Given the description of an element on the screen output the (x, y) to click on. 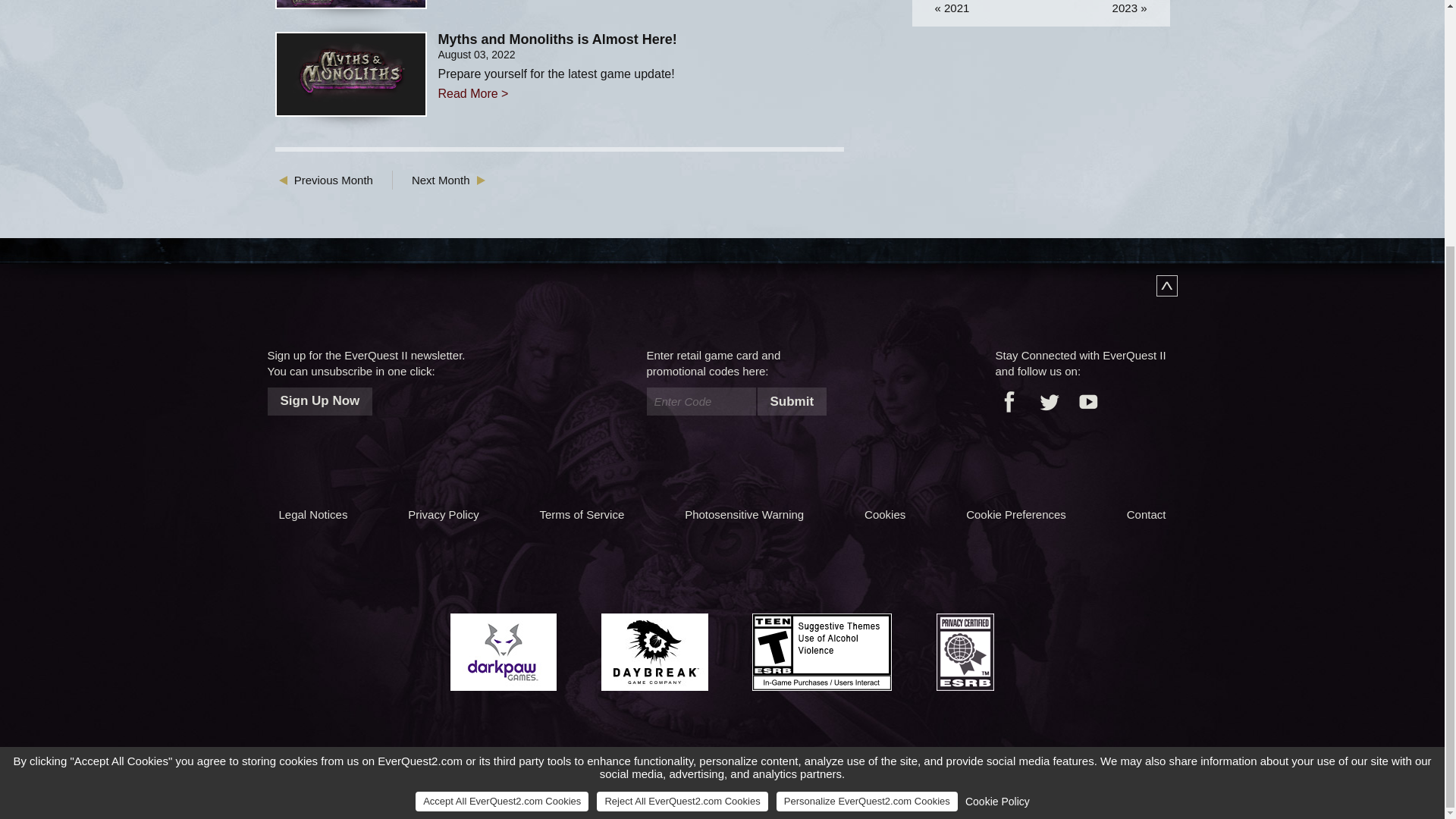
Myths and Monoliths is Almost Here! (350, 74)
Myths and Monoliths is Almost Here! (641, 39)
Prepare yourself for the latest game update! (641, 73)
Myths and Monoliths Now Live! (350, 4)
